Given the description of an element on the screen output the (x, y) to click on. 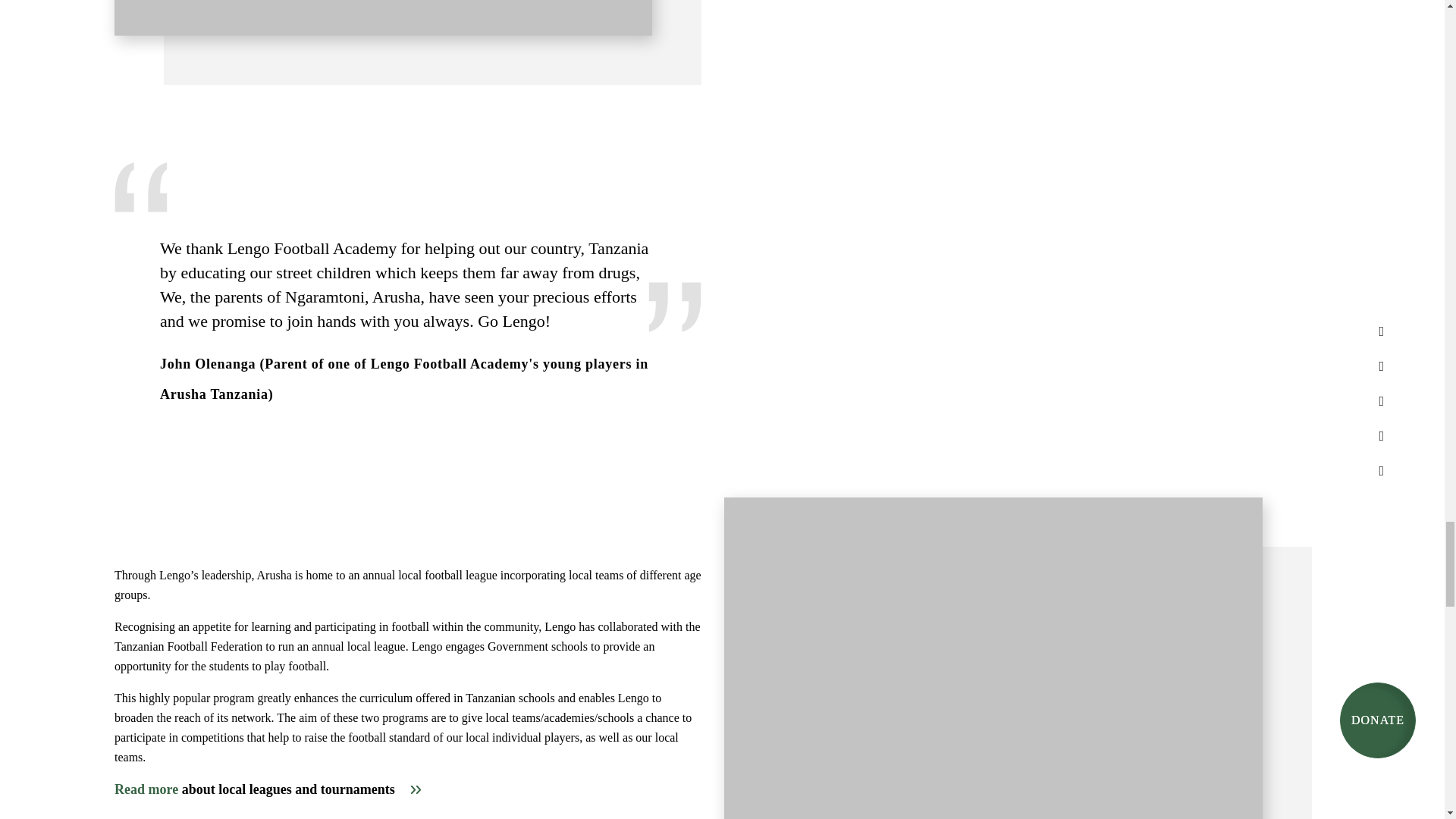
Read more about local leagues and tournaments (268, 789)
